Given the description of an element on the screen output the (x, y) to click on. 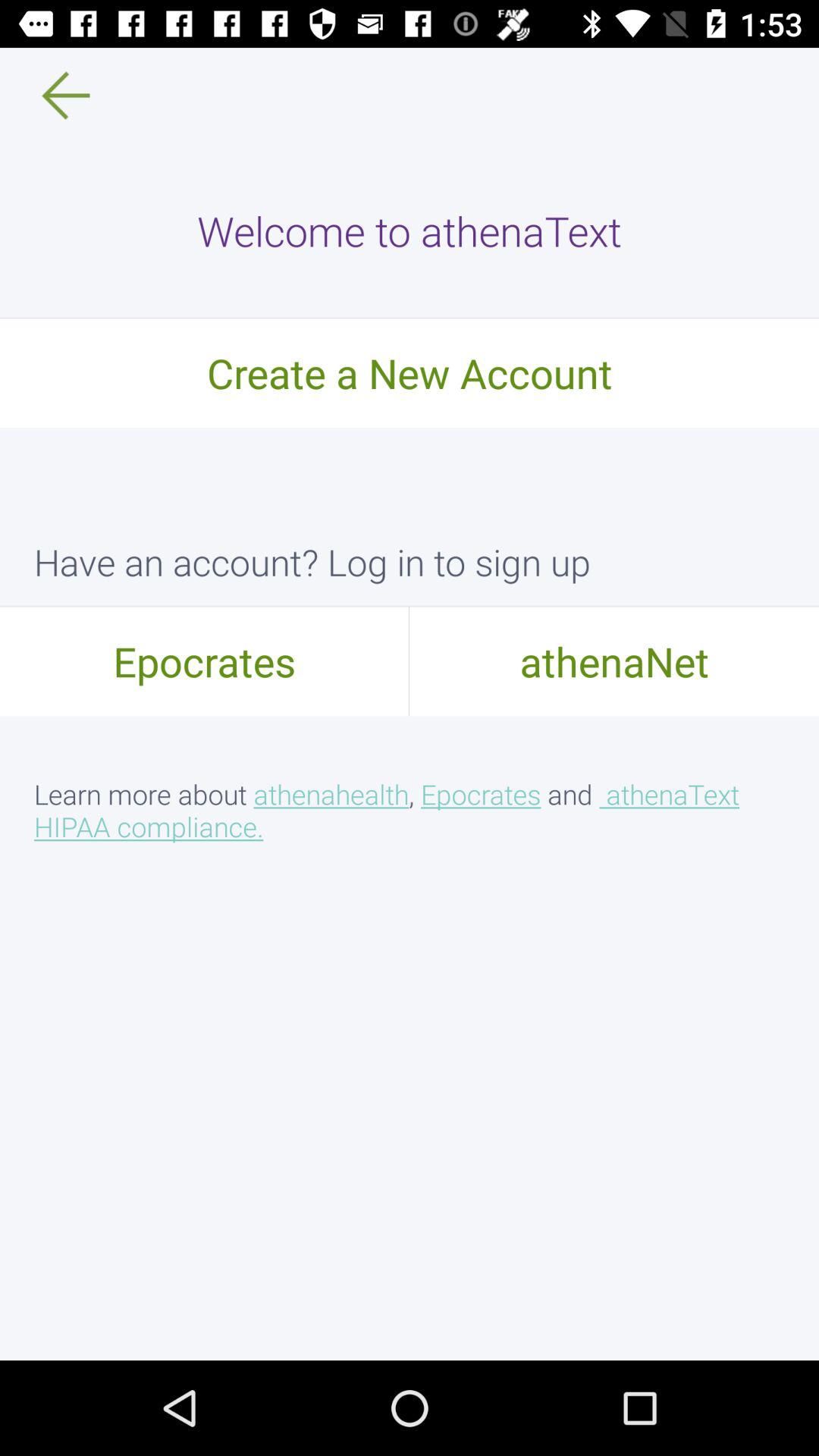
choose the icon to the right of the epocrates (614, 661)
